Given the description of an element on the screen output the (x, y) to click on. 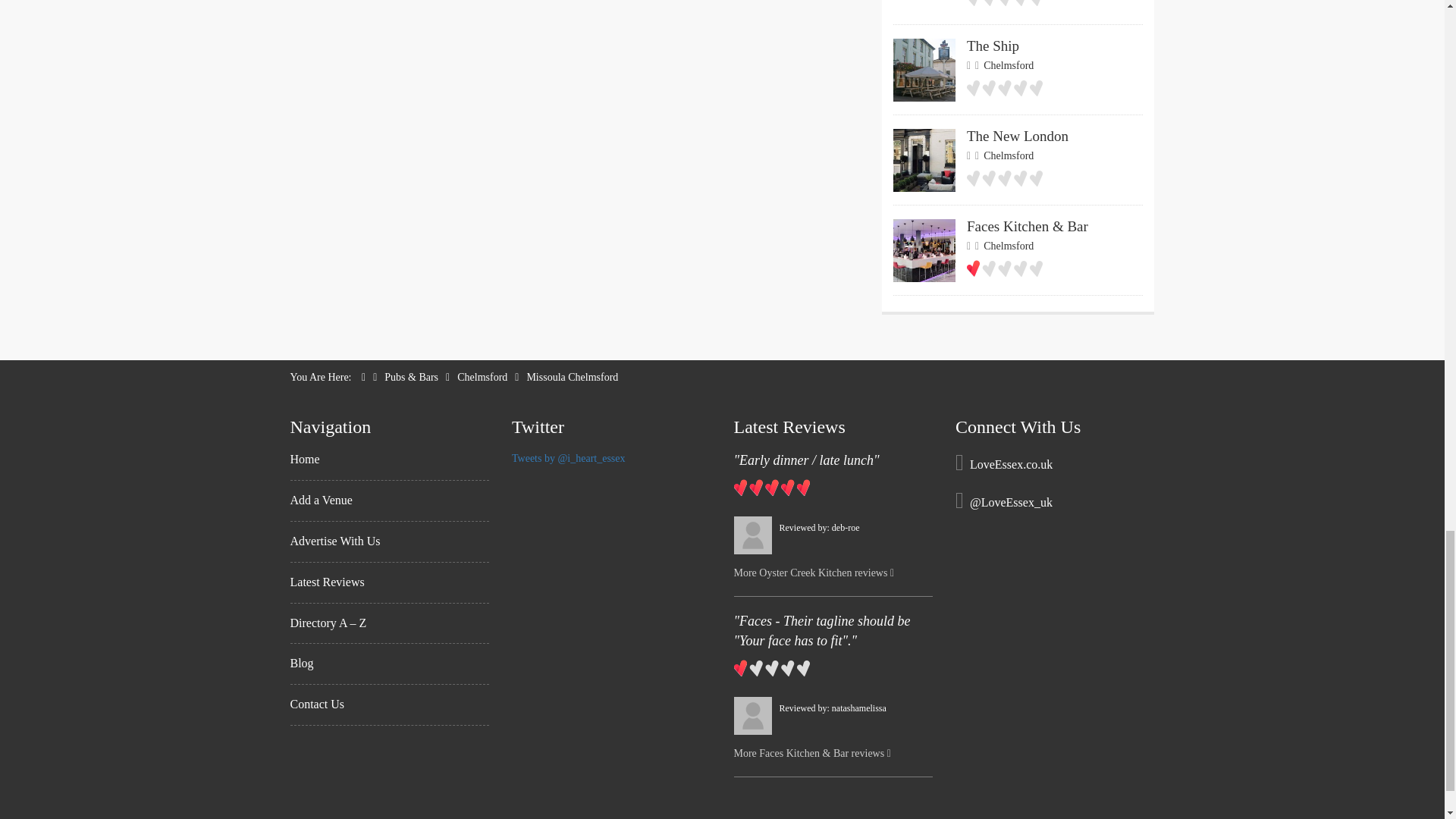
Missoula Chelmsford (571, 377)
Home (1017, 12)
Chelmsford (389, 465)
